Given the description of an element on the screen output the (x, y) to click on. 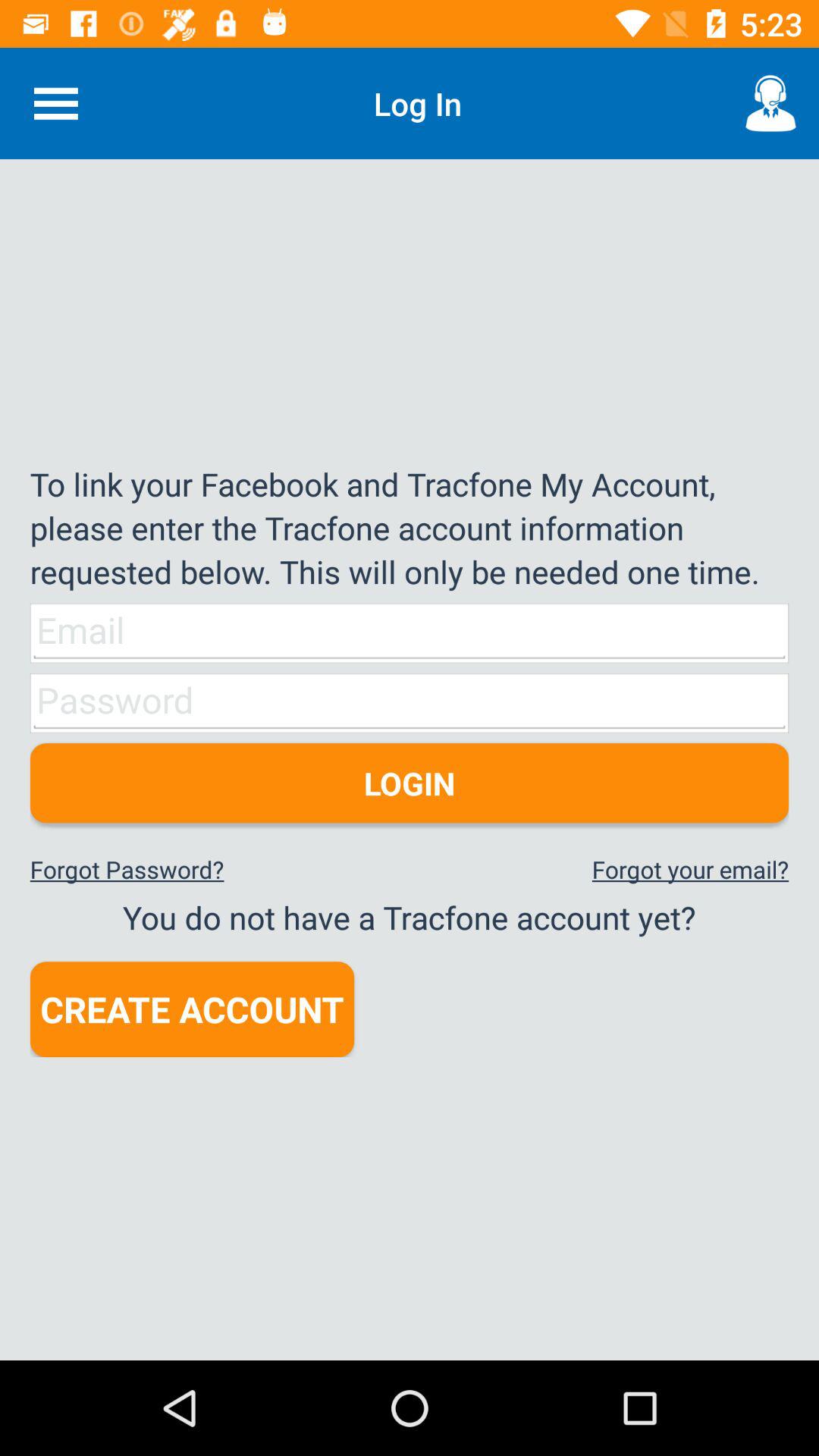
turn off forgot your email? (690, 869)
